Given the description of an element on the screen output the (x, y) to click on. 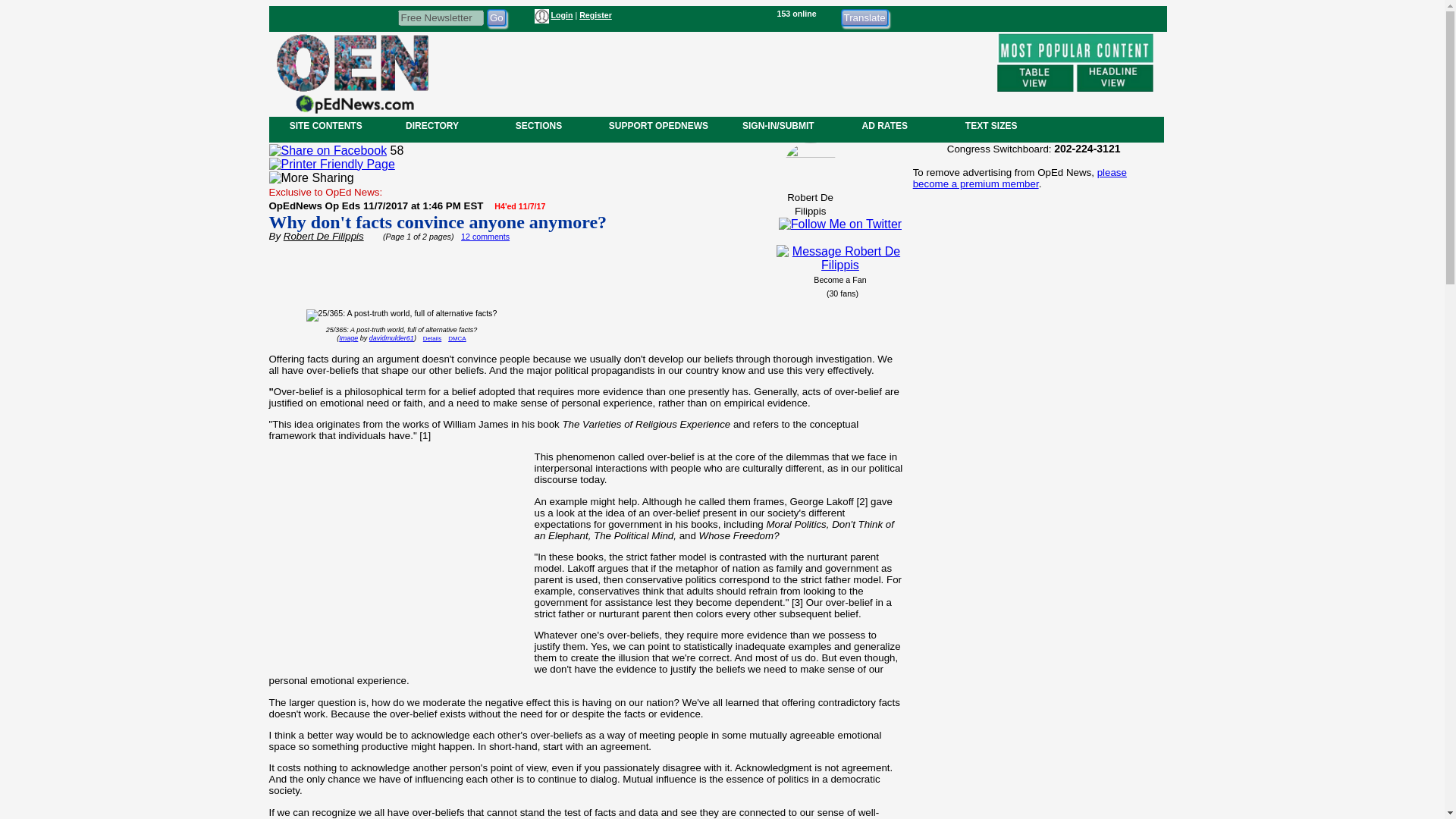
Report Copyright Violation (456, 338)
Translate (864, 17)
SUPPORT OPEDNEWS (658, 125)
Login (561, 14)
12 comments (485, 235)
DMCA (456, 338)
Image (348, 338)
Share on Facebook (327, 151)
Details (432, 338)
SECTIONS (537, 125)
